Given the description of an element on the screen output the (x, y) to click on. 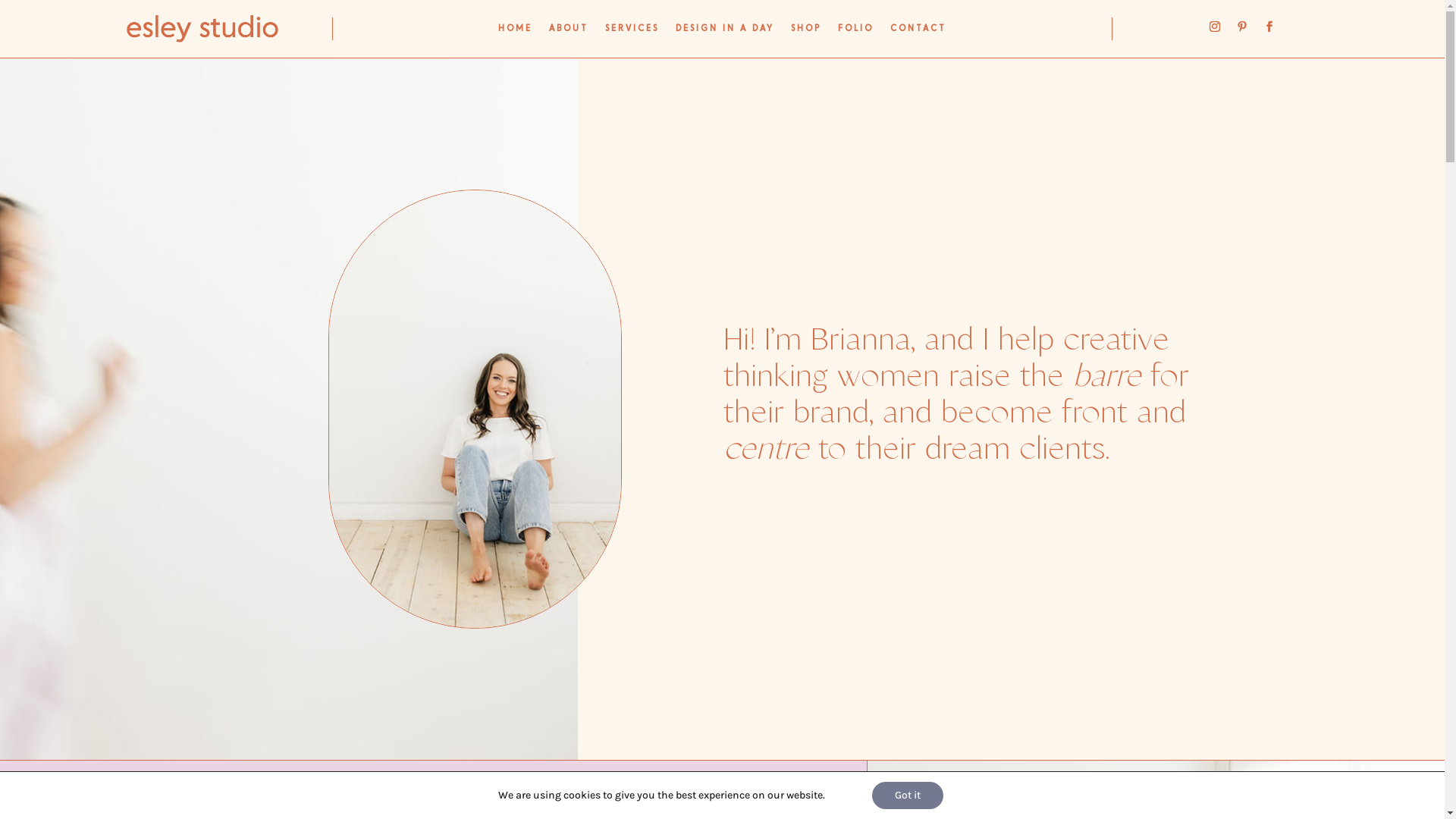
HOME Element type: text (515, 31)
Follow on Pinterest Element type: hover (1241, 26)
esleystudio_website_logo Element type: hover (202, 28)
SERVICES Element type: text (631, 31)
SHOP Element type: text (805, 31)
Follow on Facebook Element type: hover (1269, 26)
Follow on Instagram Element type: hover (1214, 26)
FOLIO Element type: text (855, 31)
about-esley-studio Element type: hover (475, 408)
Got it Element type: text (907, 795)
CONTACT Element type: text (918, 31)
DESIGN IN A DAY Element type: text (724, 31)
ABOUT Element type: text (568, 31)
